Given the description of an element on the screen output the (x, y) to click on. 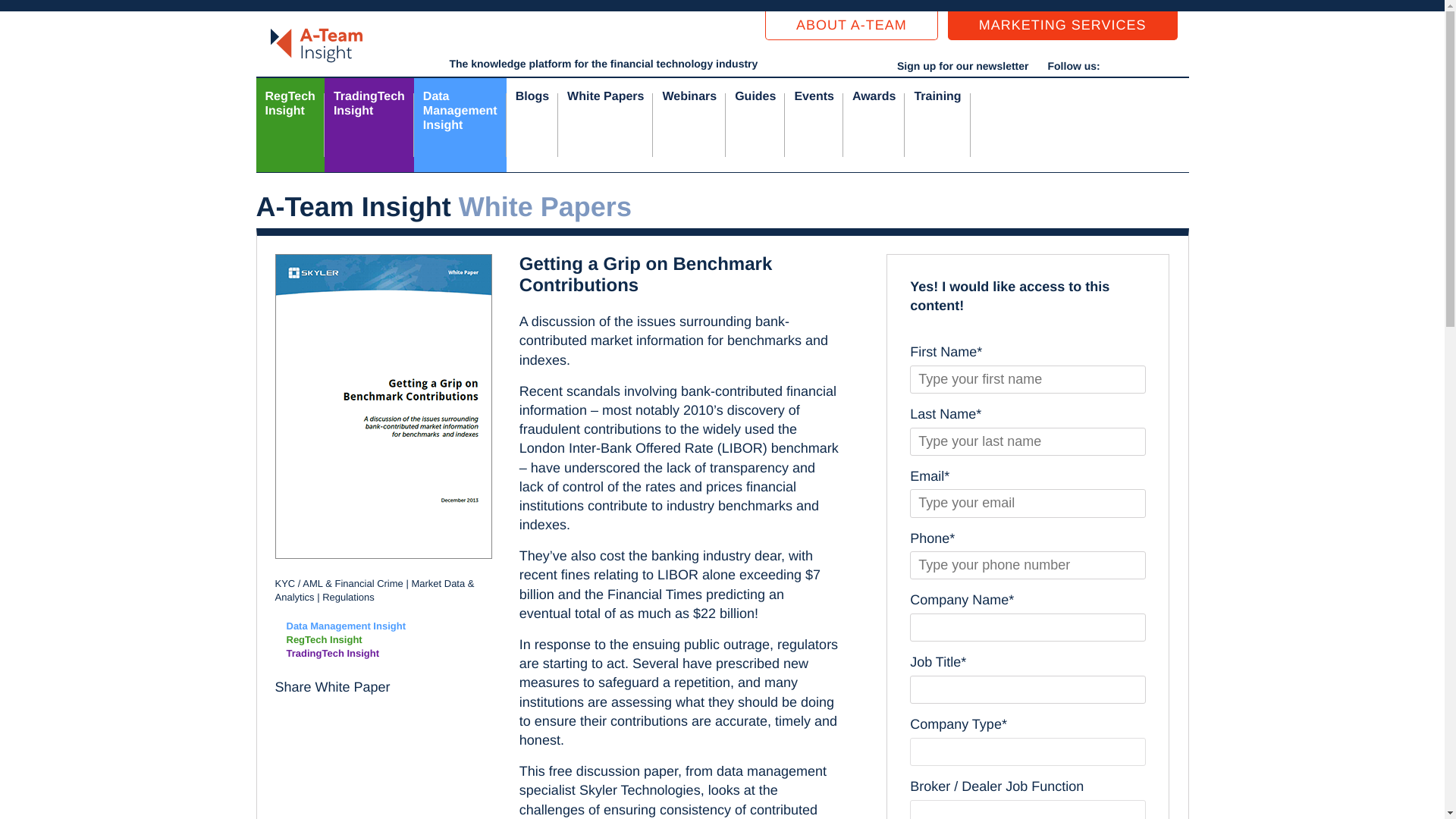
Sign up for our newsletter (961, 65)
ABOUT A-TEAM (368, 124)
MARKETING SERVICES (851, 25)
